Given the description of an element on the screen output the (x, y) to click on. 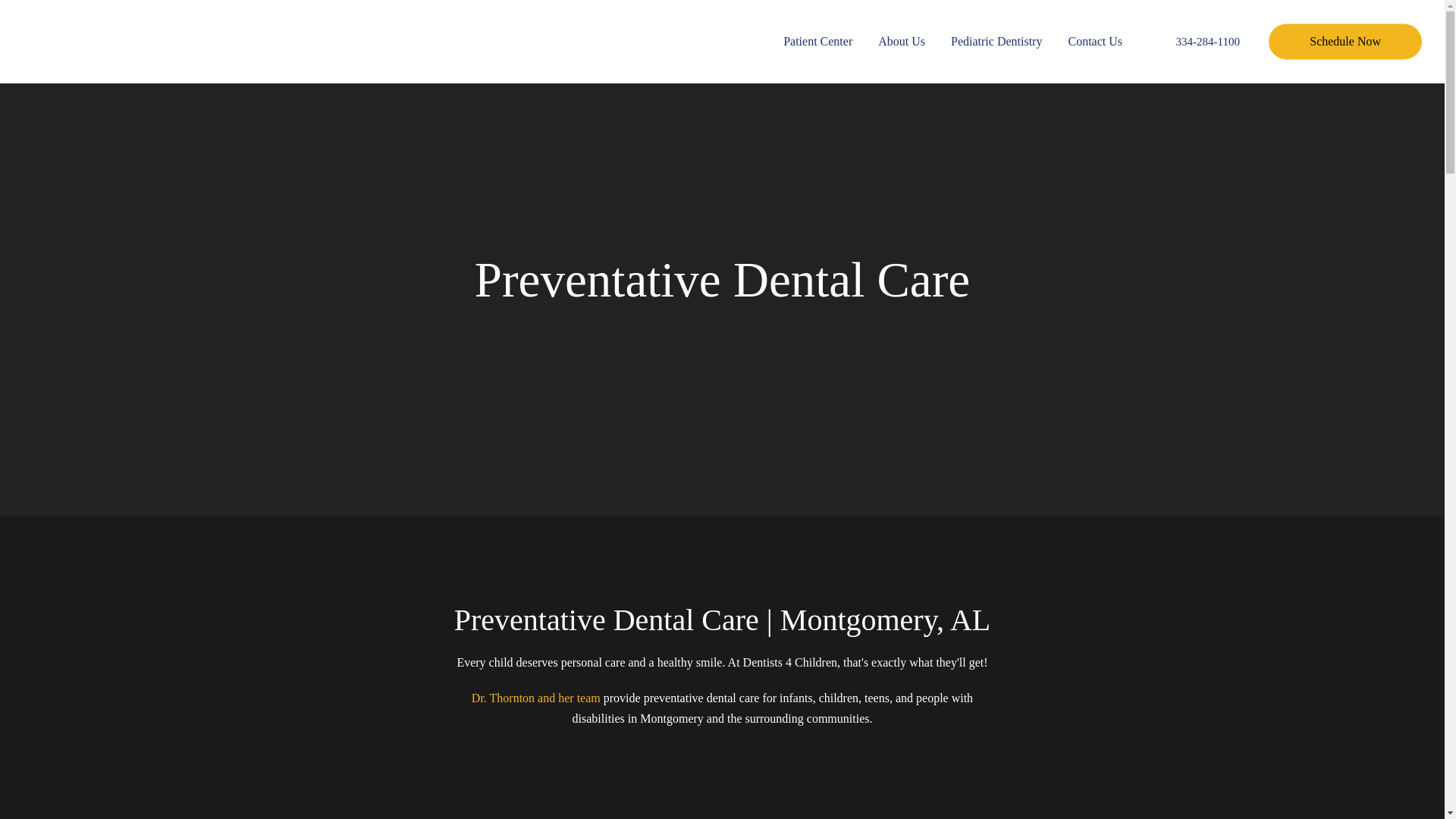
About Us (900, 41)
Contact Us (1094, 41)
Patient Center (817, 41)
Pediatric Dentistry (996, 41)
